Given the description of an element on the screen output the (x, y) to click on. 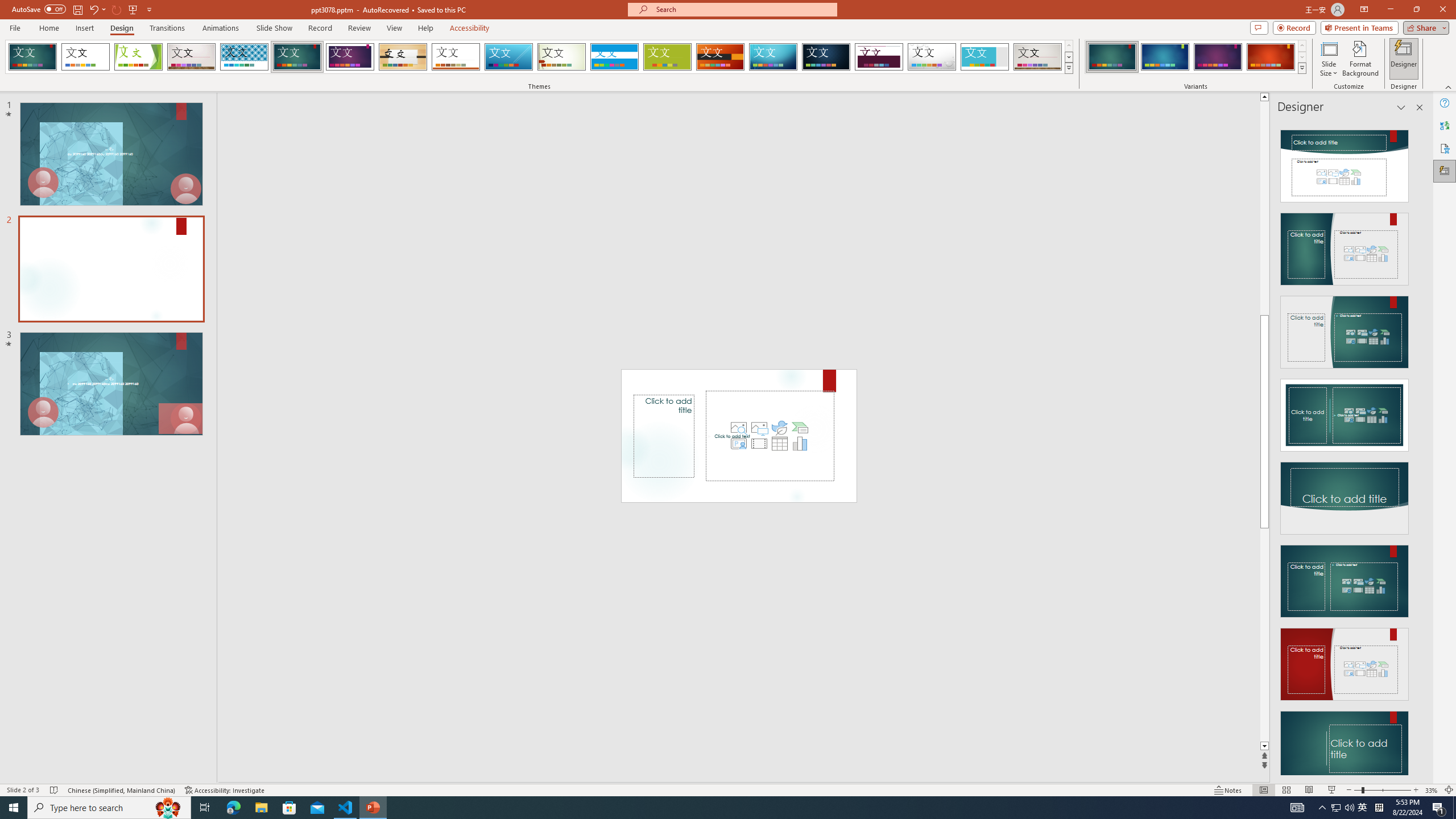
Insert Chart (799, 443)
Wisp (561, 56)
Insert Video (758, 443)
Variants (1301, 67)
Format Background (1360, 58)
